Given the description of an element on the screen output the (x, y) to click on. 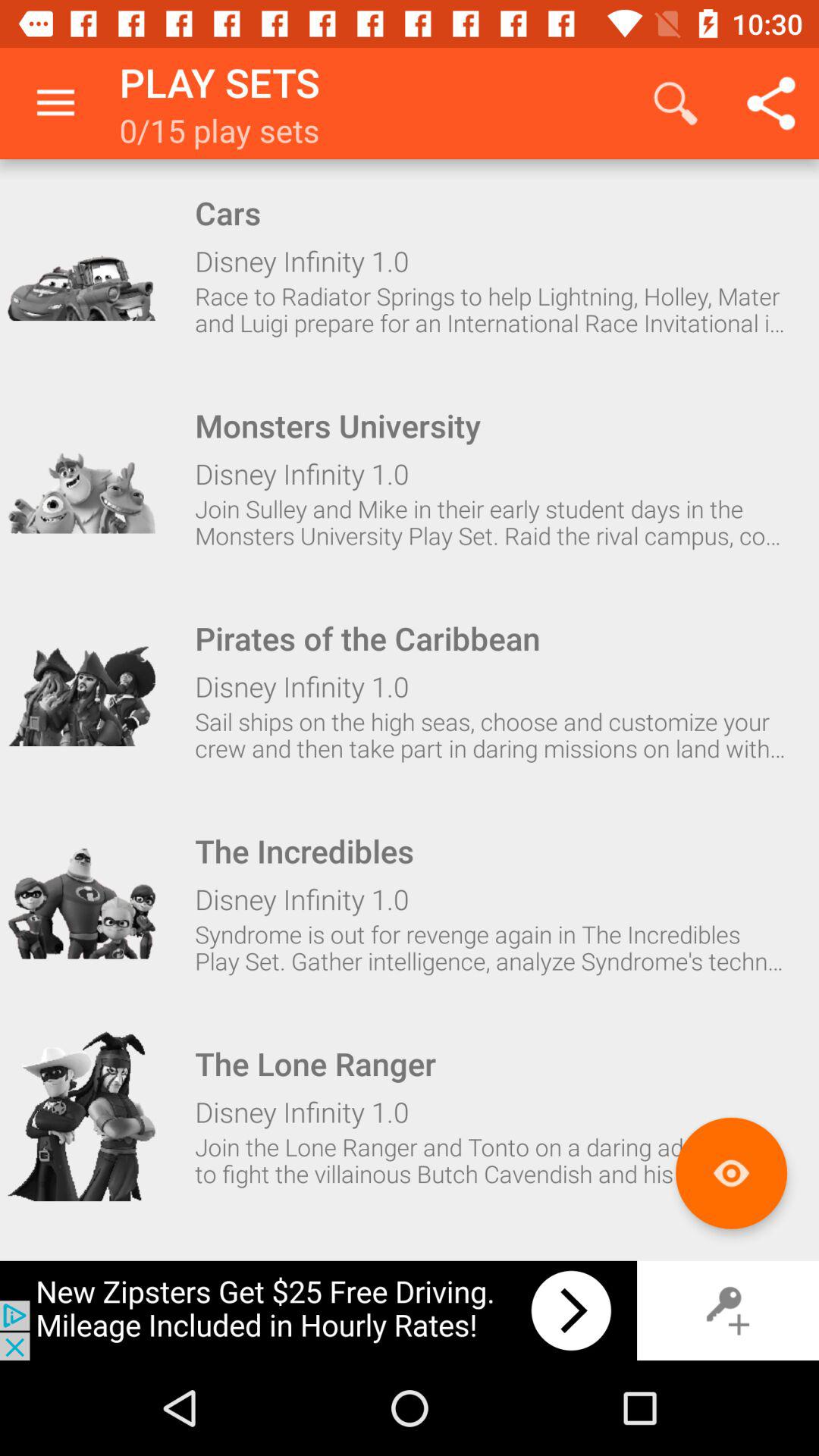
select the incredibles (81, 903)
